Given the description of an element on the screen output the (x, y) to click on. 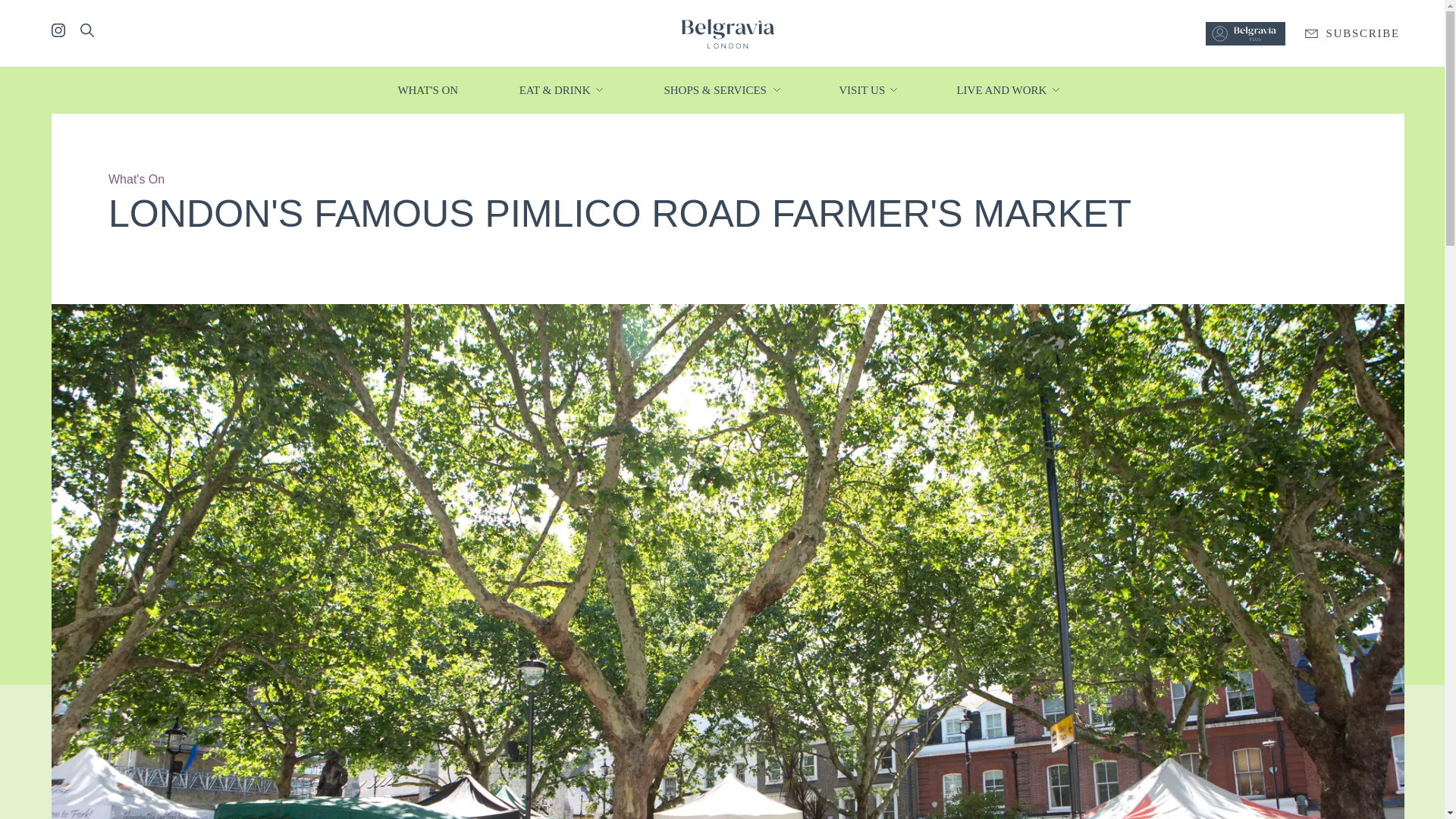
SUBSCRIBE (1352, 33)
Belgravia London (727, 32)
VISIT US (862, 89)
LIVE AND WORK (1002, 89)
WHAT'S ON (428, 89)
